Given the description of an element on the screen output the (x, y) to click on. 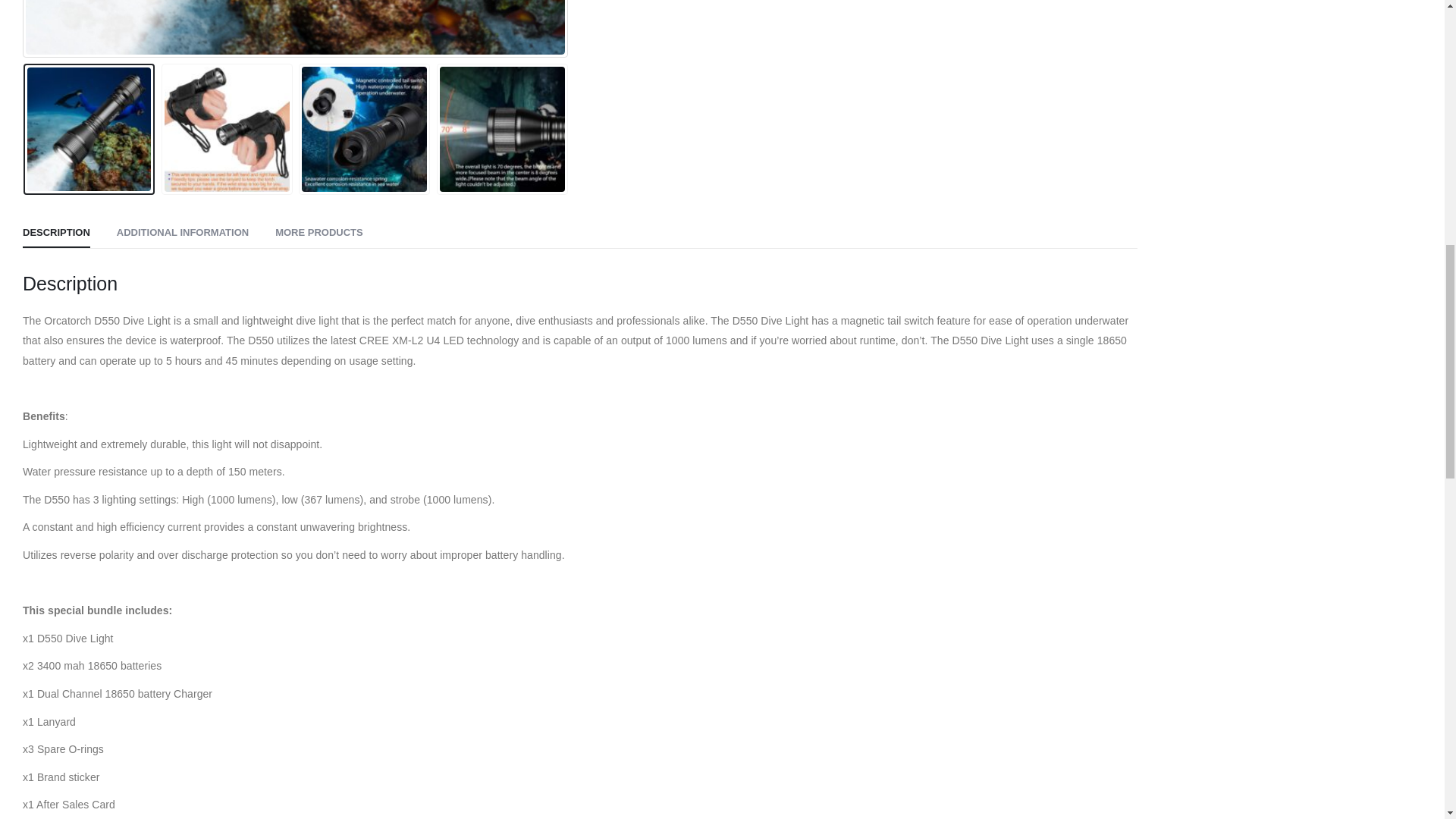
D550 1 (295, 27)
